Given the description of an element on the screen output the (x, y) to click on. 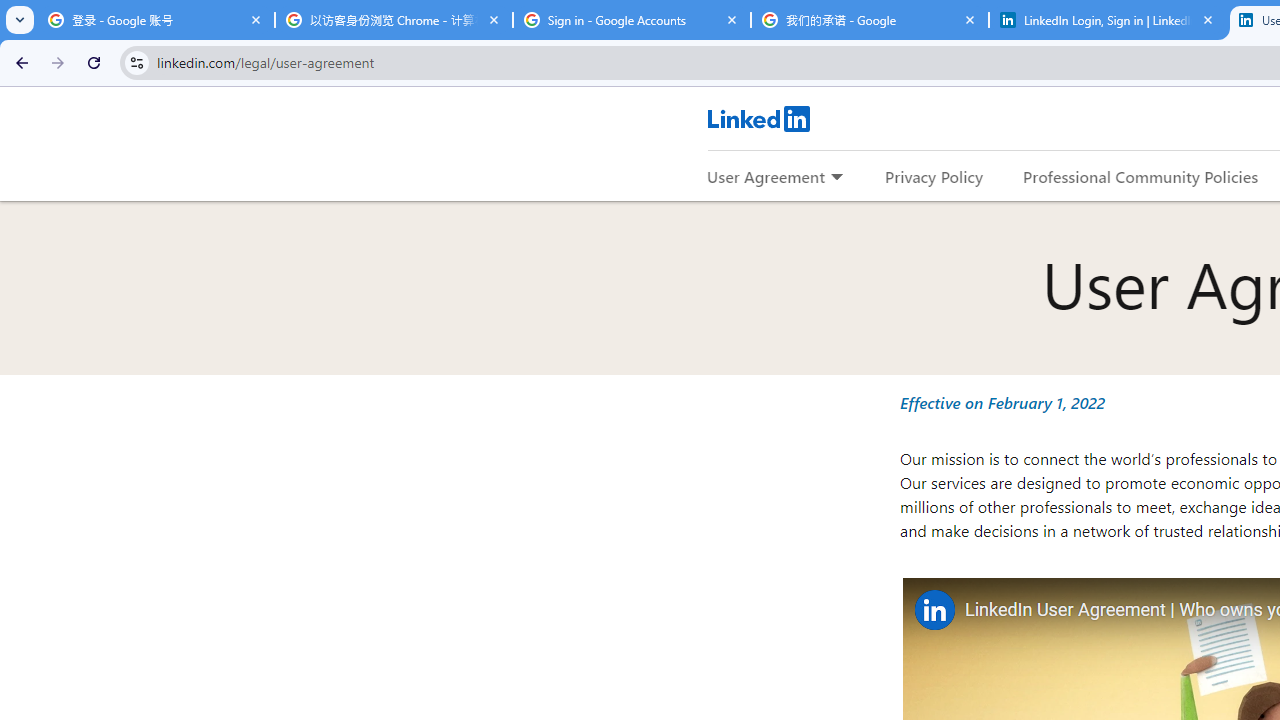
Sign in - Google Accounts (632, 20)
LinkedIn Logo (758, 118)
User Agreement (765, 176)
LinkedIn Login, Sign in | LinkedIn (1108, 20)
